Given the description of an element on the screen output the (x, y) to click on. 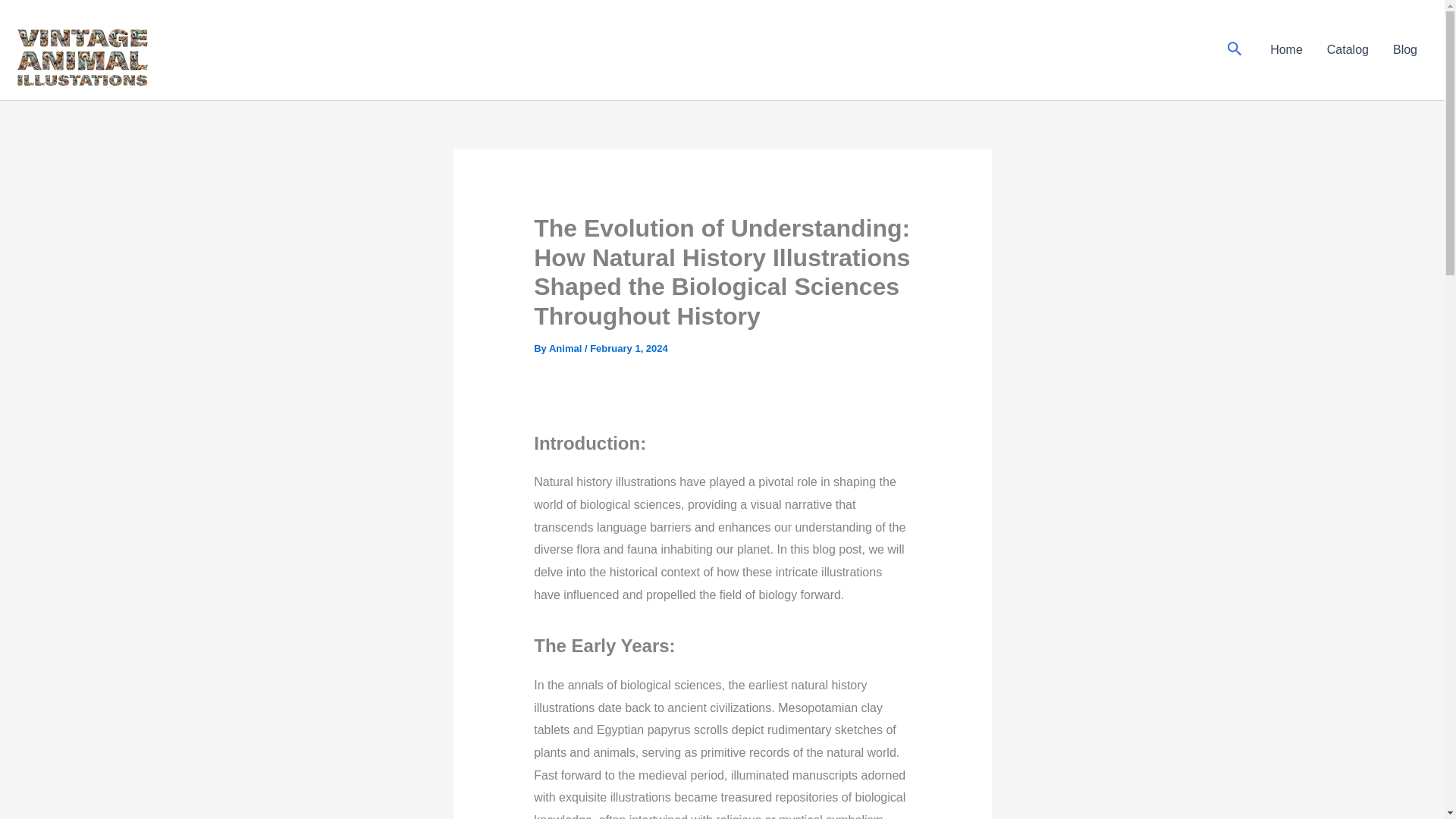
Home (1285, 49)
View all posts by Animal (566, 348)
Catalog (1347, 49)
Animal (566, 348)
